Given the description of an element on the screen output the (x, y) to click on. 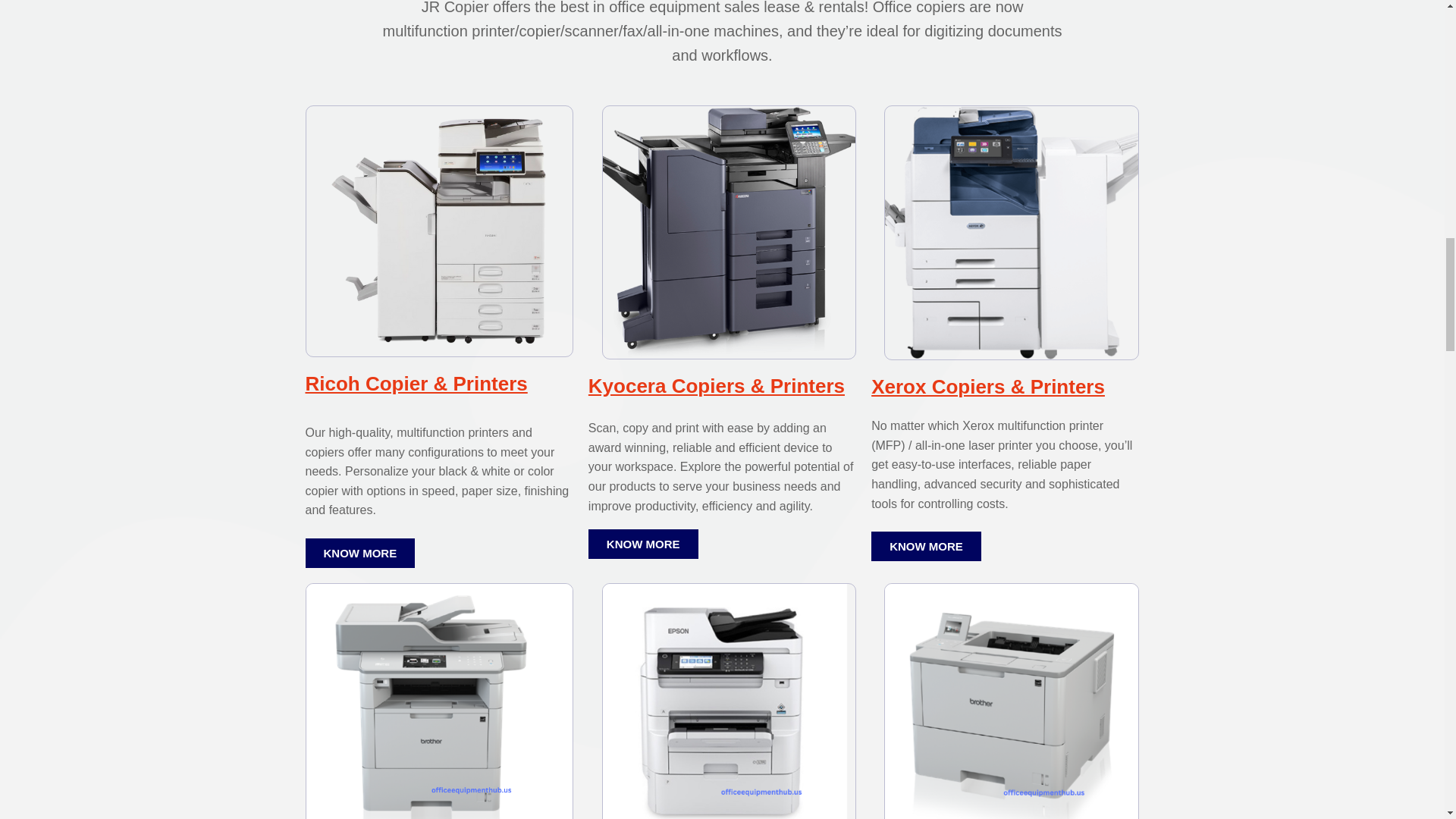
KNOW MORE (643, 543)
KNOW MORE (925, 546)
Epson MFD Printer USA (729, 701)
Brother Printer (1010, 701)
KNOW MORE (359, 553)
altalink-xerox-copier-1 (1010, 232)
